Given the description of an element on the screen output the (x, y) to click on. 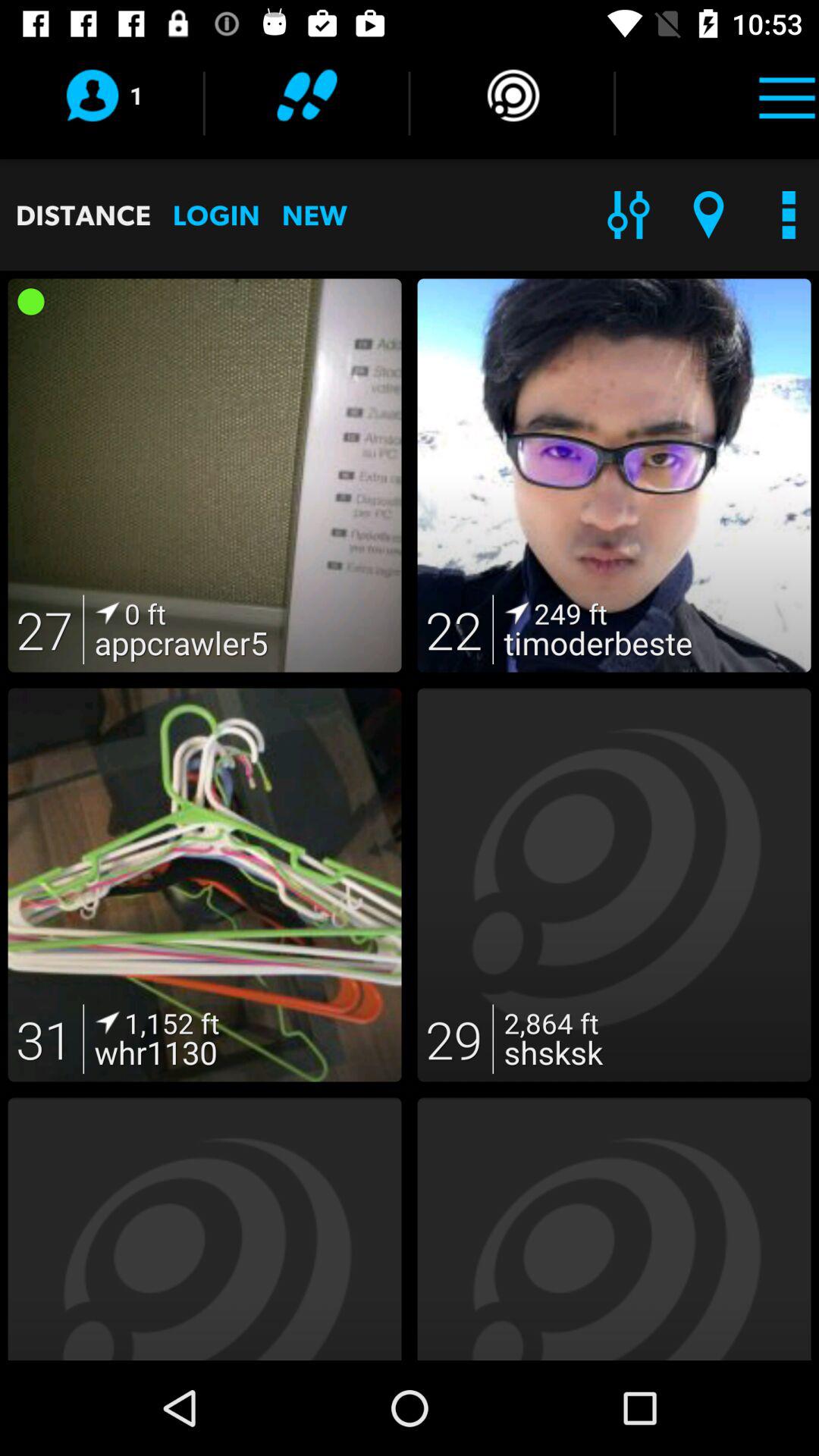
select second image which is on the first vertical of the page (614, 474)
